Given the description of an element on the screen output the (x, y) to click on. 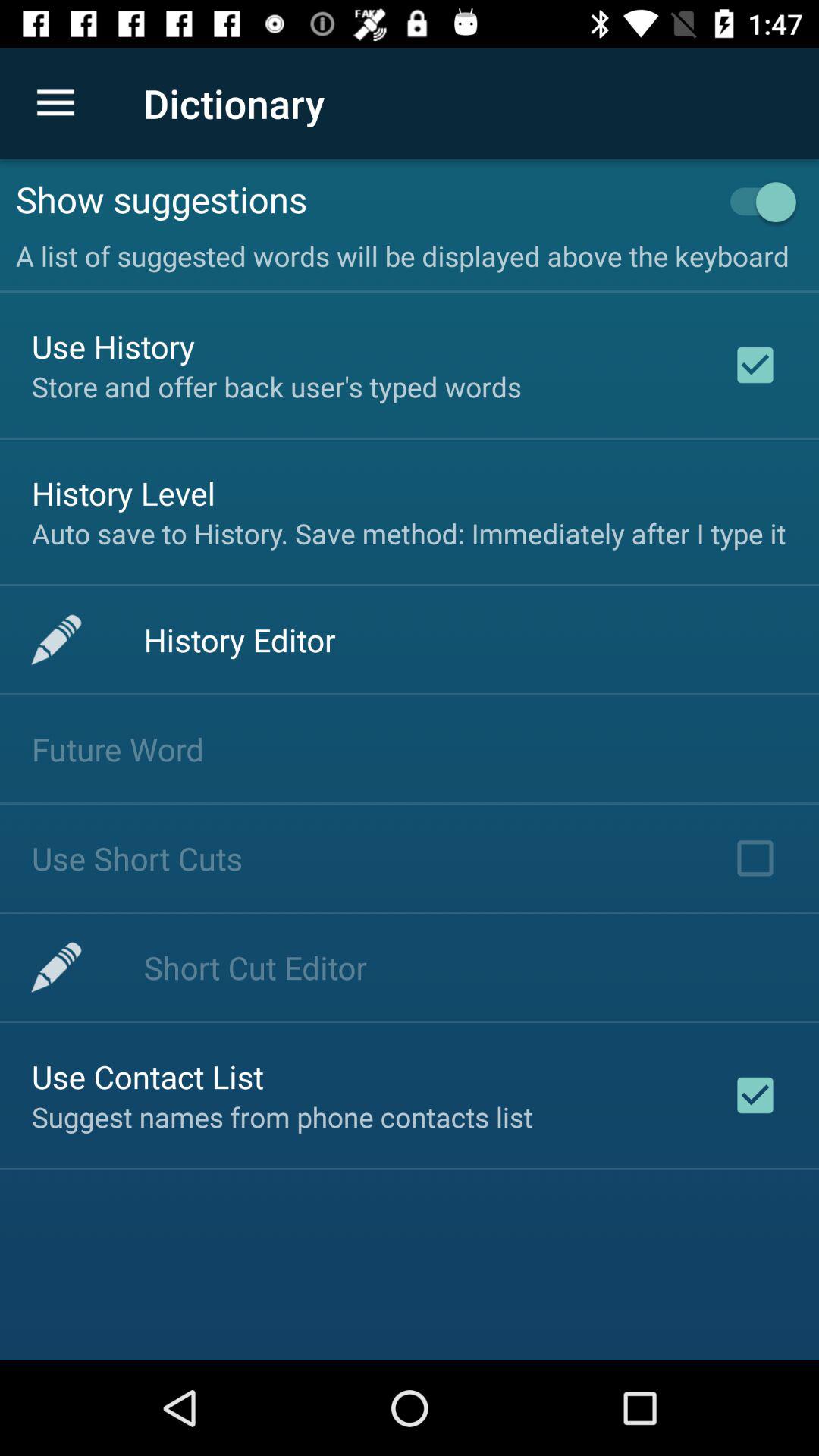
swipe until show suggestions (361, 199)
